Given the description of an element on the screen output the (x, y) to click on. 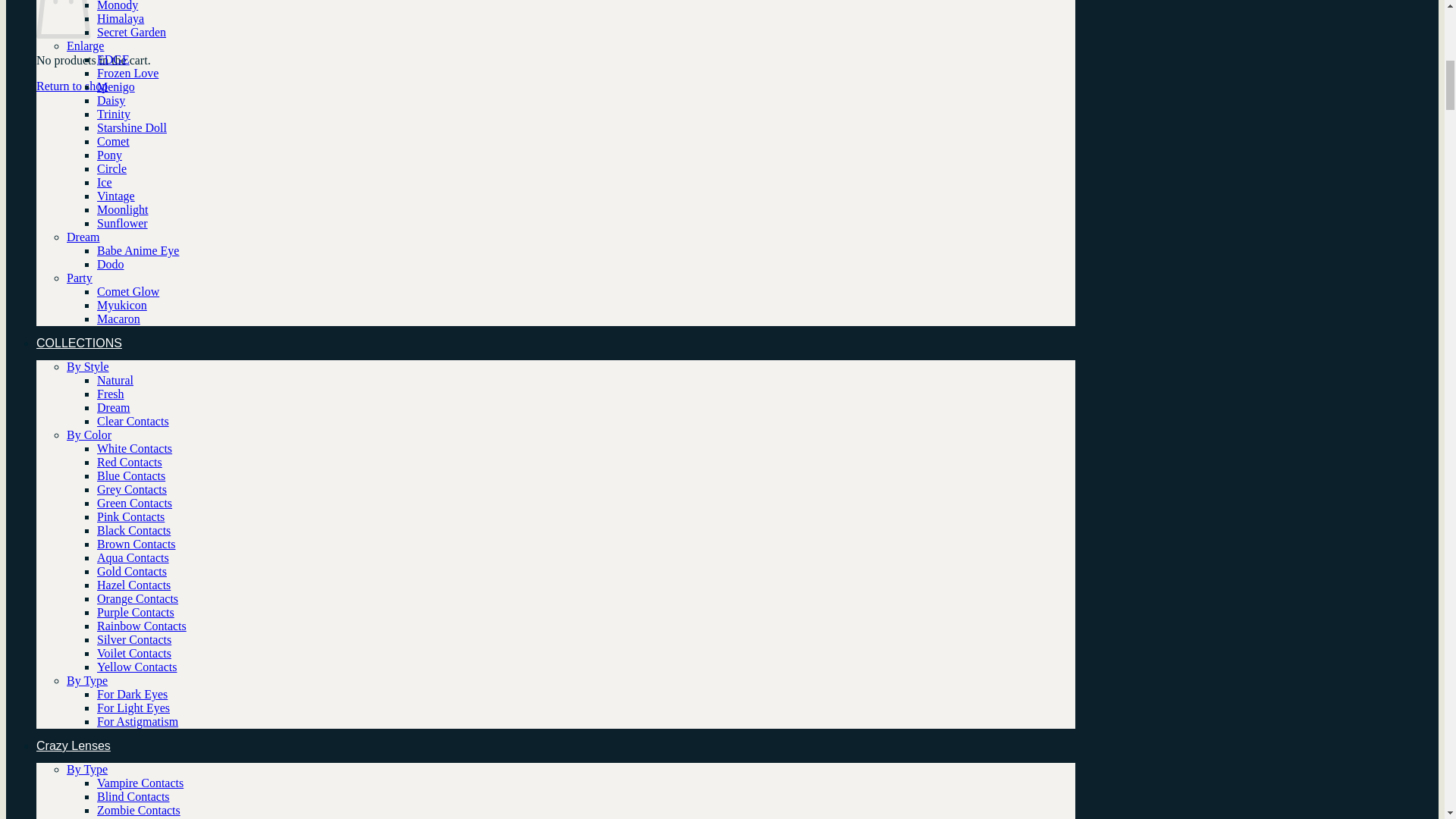
Return to shop (71, 85)
